Given the description of an element on the screen output the (x, y) to click on. 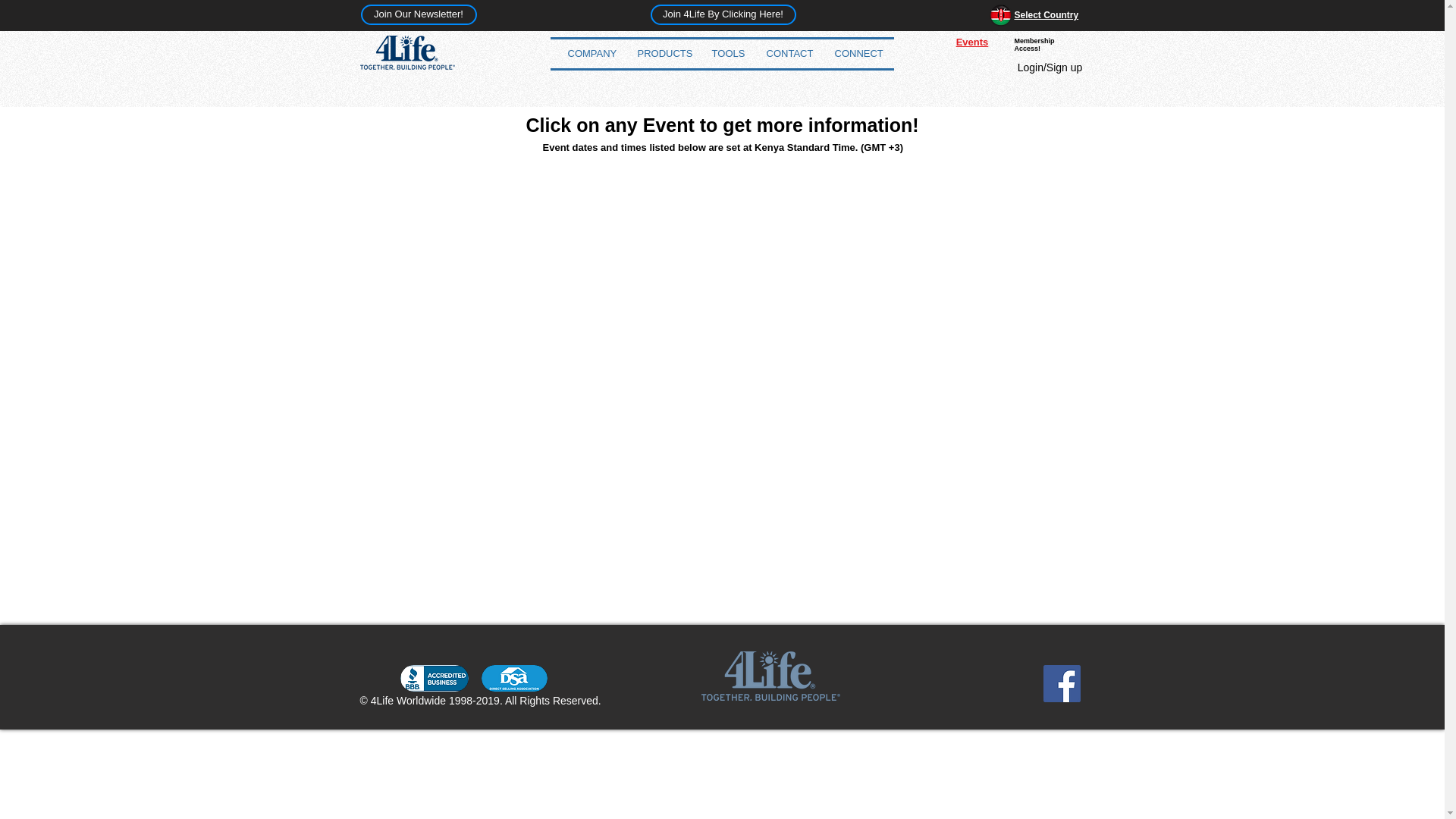
COMPANY (591, 53)
Select Country (1046, 14)
TOOLS (727, 53)
CONTACT (789, 53)
4LifeLogo.png (406, 52)
PRODUCTS (663, 53)
Join 4Life By Clicking Here! (723, 14)
Join Our Newsletter! (419, 14)
Events (972, 41)
CONNECT (858, 53)
